Given the description of an element on the screen output the (x, y) to click on. 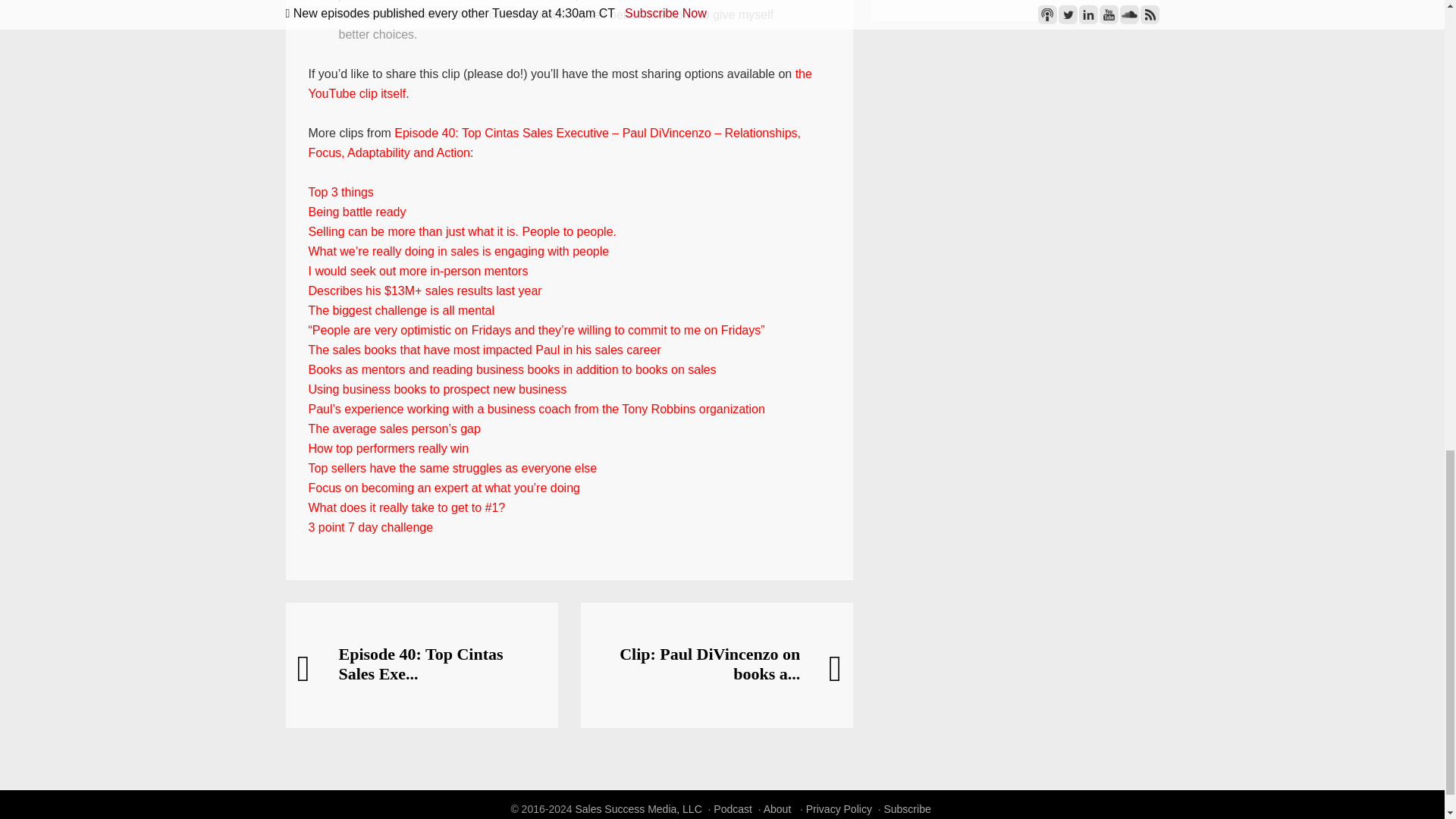
Using business books to prospect new business (436, 389)
Being battle ready (356, 211)
Selling can be more than just what it is. People to people. (461, 231)
the YouTube clip itself (558, 83)
I would seek out more in-person mentors (417, 270)
Top 3 things (339, 192)
3 point 7 day challenge (369, 526)
Top sellers have the same struggles as everyone else (451, 468)
The biggest challenge is all mental (400, 309)
How top performers really win (387, 448)
